Given the description of an element on the screen output the (x, y) to click on. 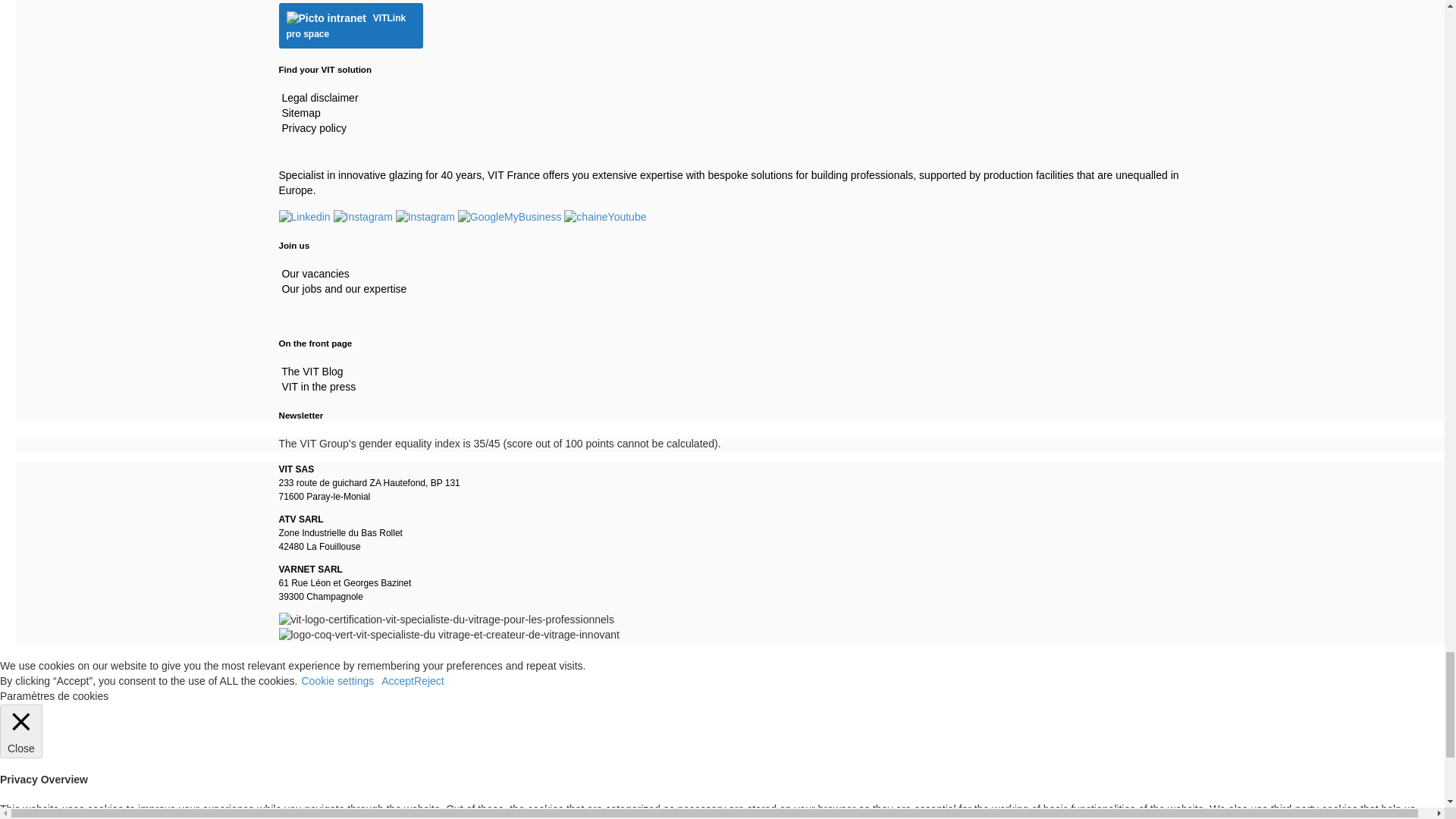
Logo Coq vert (449, 635)
vit-logo-certification (446, 620)
